Given the description of an element on the screen output the (x, y) to click on. 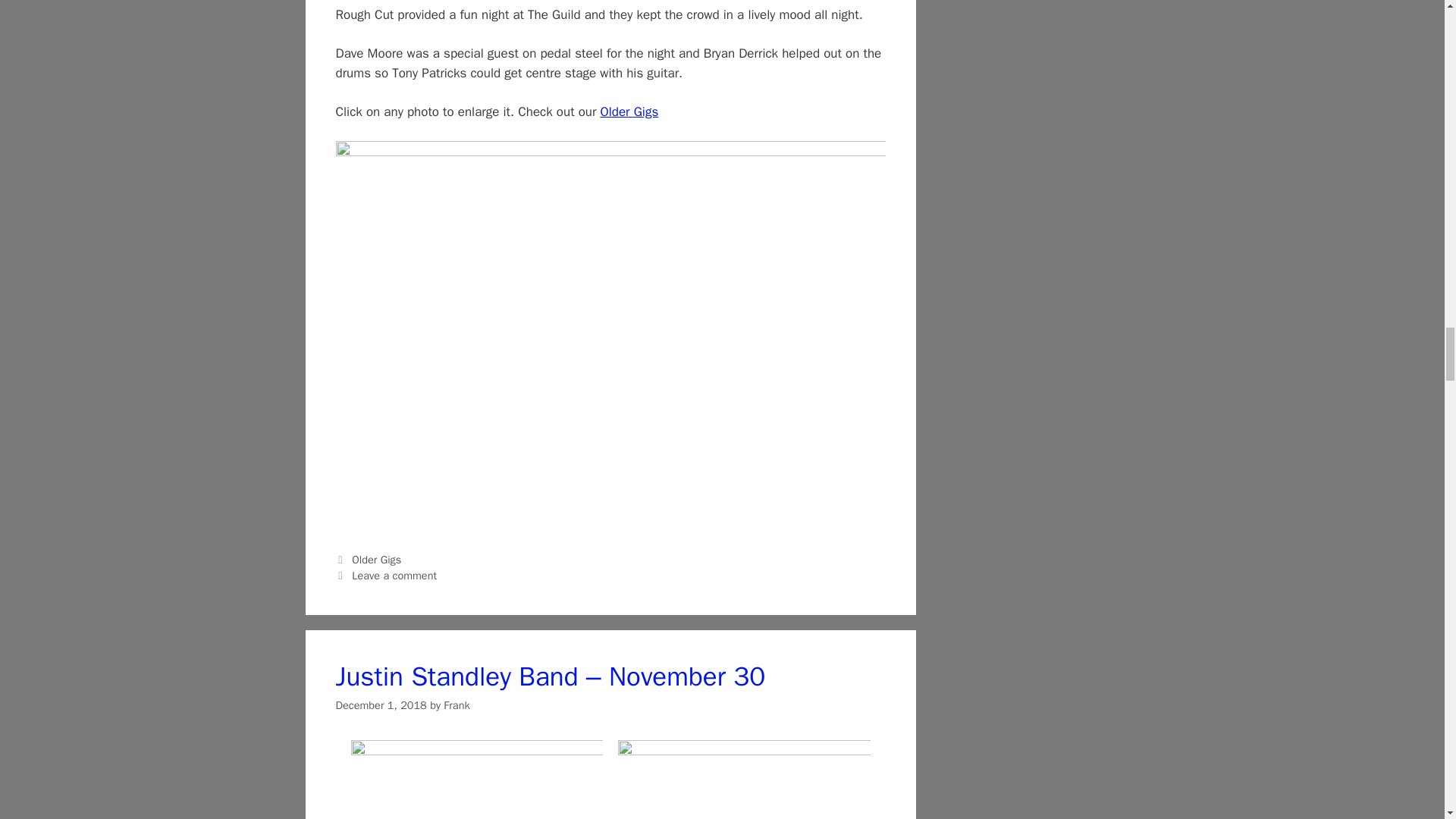
View all posts by Frank (456, 704)
